Given the description of an element on the screen output the (x, y) to click on. 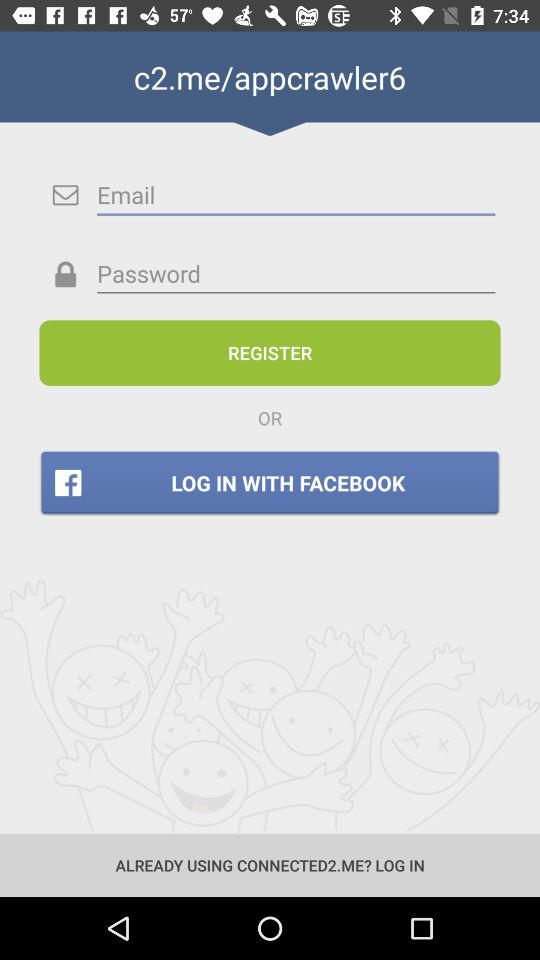
select already using connected2 item (270, 864)
